Given the description of an element on the screen output the (x, y) to click on. 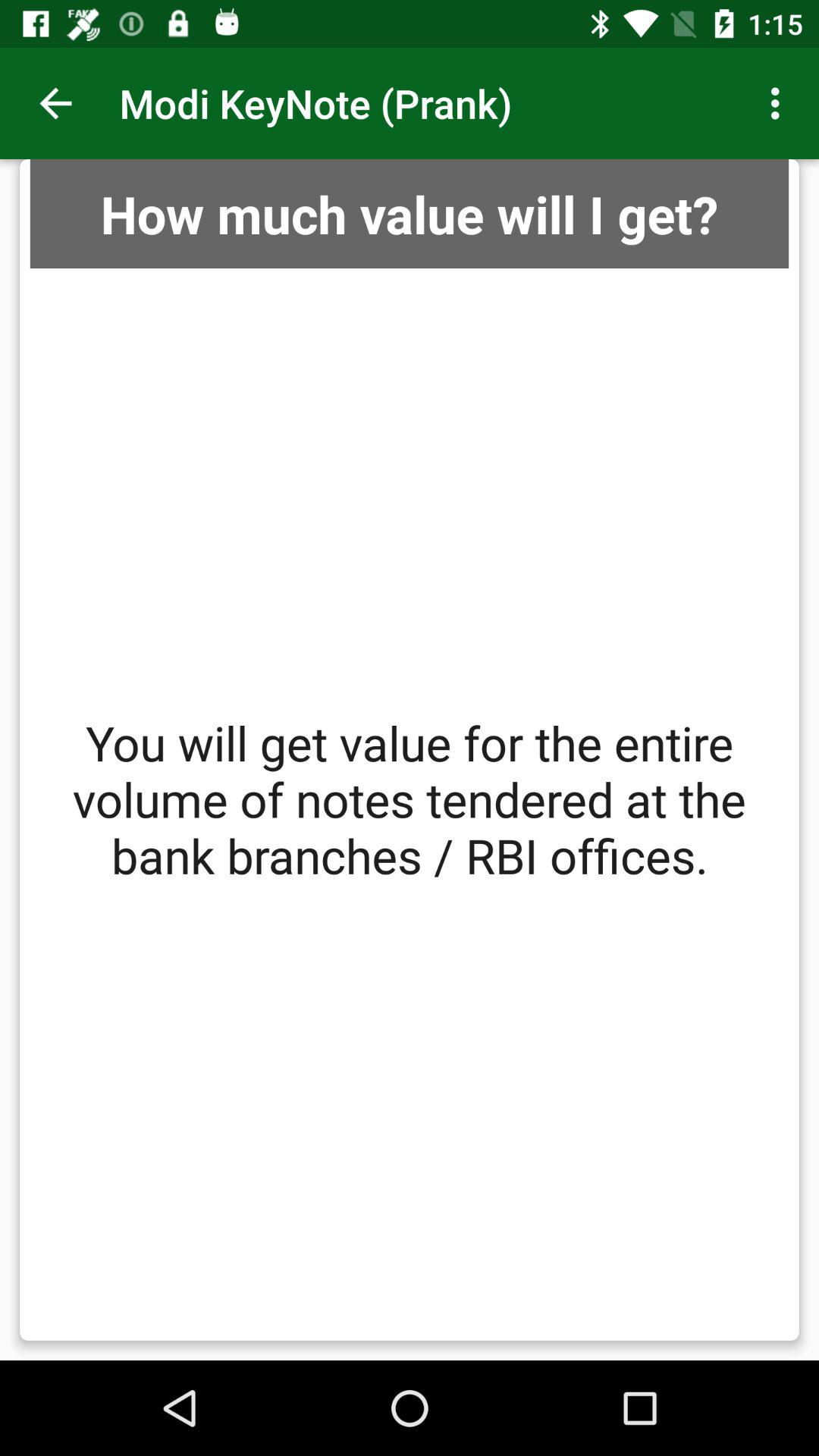
choose the icon at the top right corner (779, 103)
